Given the description of an element on the screen output the (x, y) to click on. 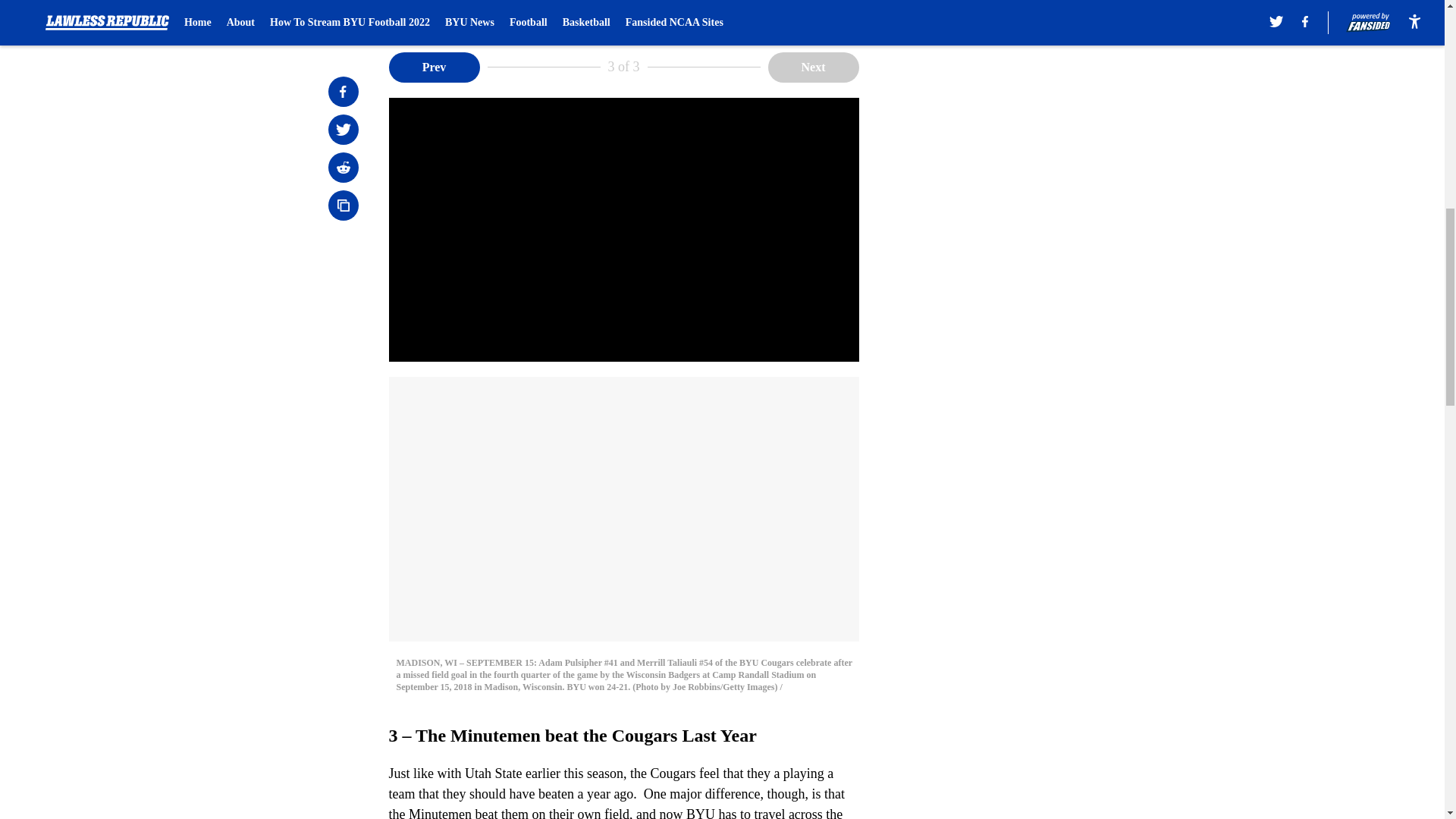
Prev (433, 66)
Next (813, 66)
